Given the description of an element on the screen output the (x, y) to click on. 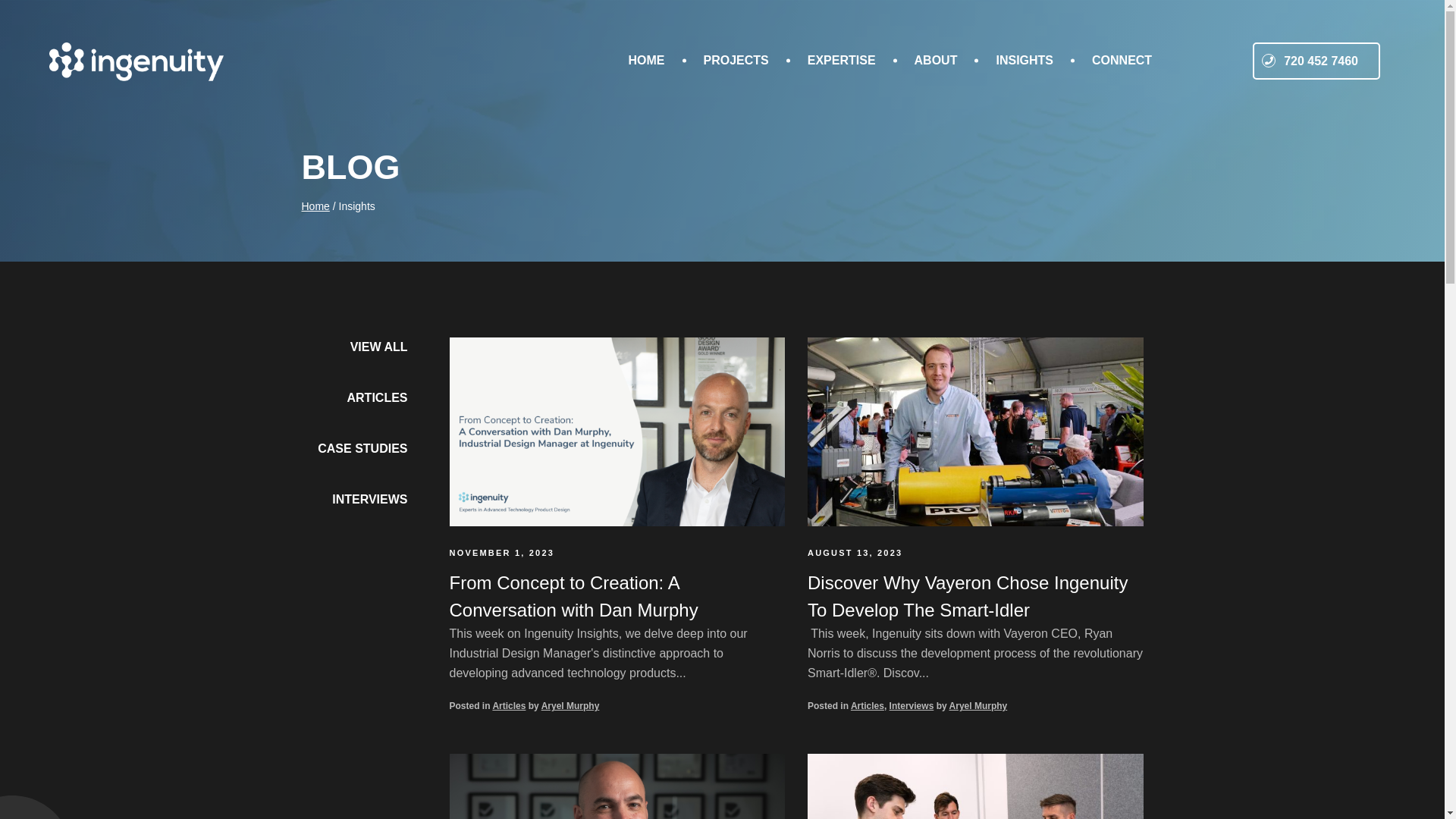
Home Element type: text (315, 206)
CONNECT Element type: text (1121, 60)
Aryel Murphy Element type: text (978, 705)
ARTICLES Element type: text (377, 402)
Aryel Murphy Element type: text (570, 705)
720 452 7460 Element type: text (1316, 60)
From Concept to Creation: A Conversation with Dan Murphy Element type: text (572, 596)
INTERVIEWS Element type: text (369, 503)
CASE STUDIES Element type: text (362, 453)
Articles Element type: text (508, 705)
EXPERTISE Element type: text (841, 60)
PROJECTS Element type: text (736, 60)
Articles Element type: text (867, 705)
HOME Element type: text (645, 60)
Interviews Element type: text (911, 705)
VIEW ALL Element type: text (378, 351)
ABOUT Element type: text (936, 60)
INSIGHTS Element type: text (1024, 60)
